Given the description of an element on the screen output the (x, y) to click on. 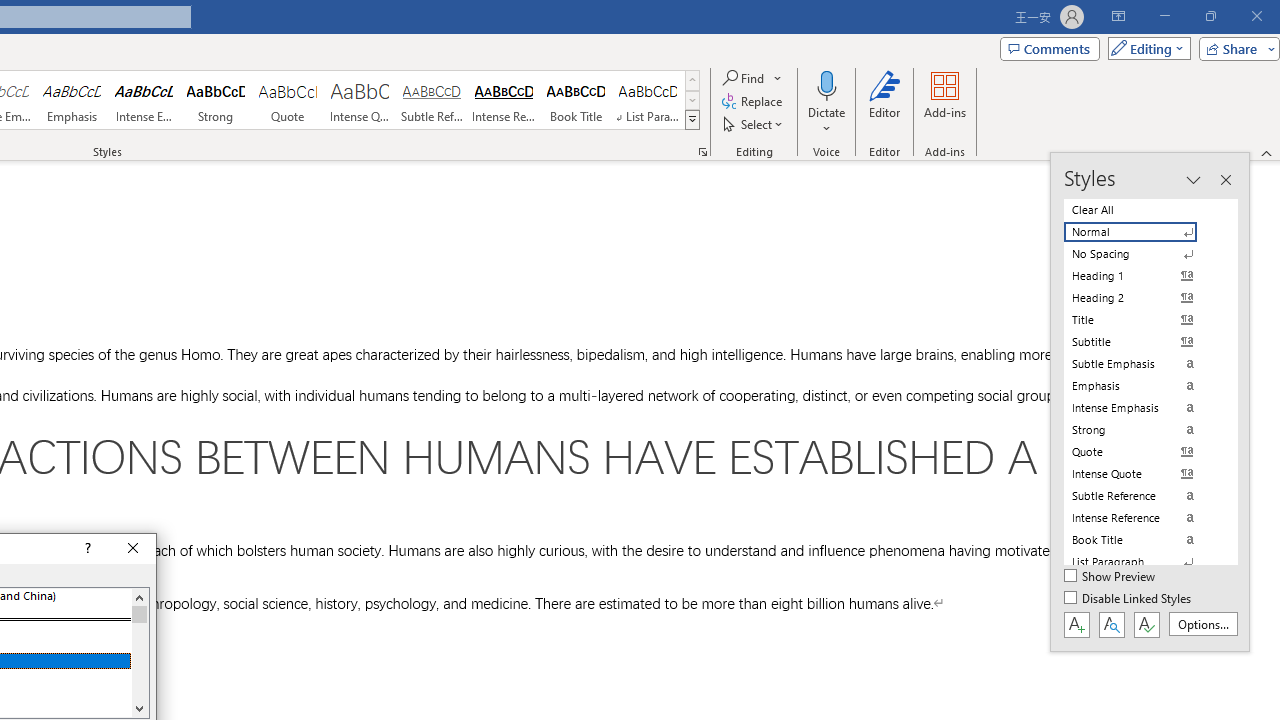
Intense Quote (359, 100)
Class: NetUIImage (692, 119)
Intense Reference (504, 100)
Quote (287, 100)
Close pane (1225, 179)
Title (1142, 319)
Heading 1 (1142, 275)
No Spacing (1142, 253)
